Given the description of an element on the screen output the (x, y) to click on. 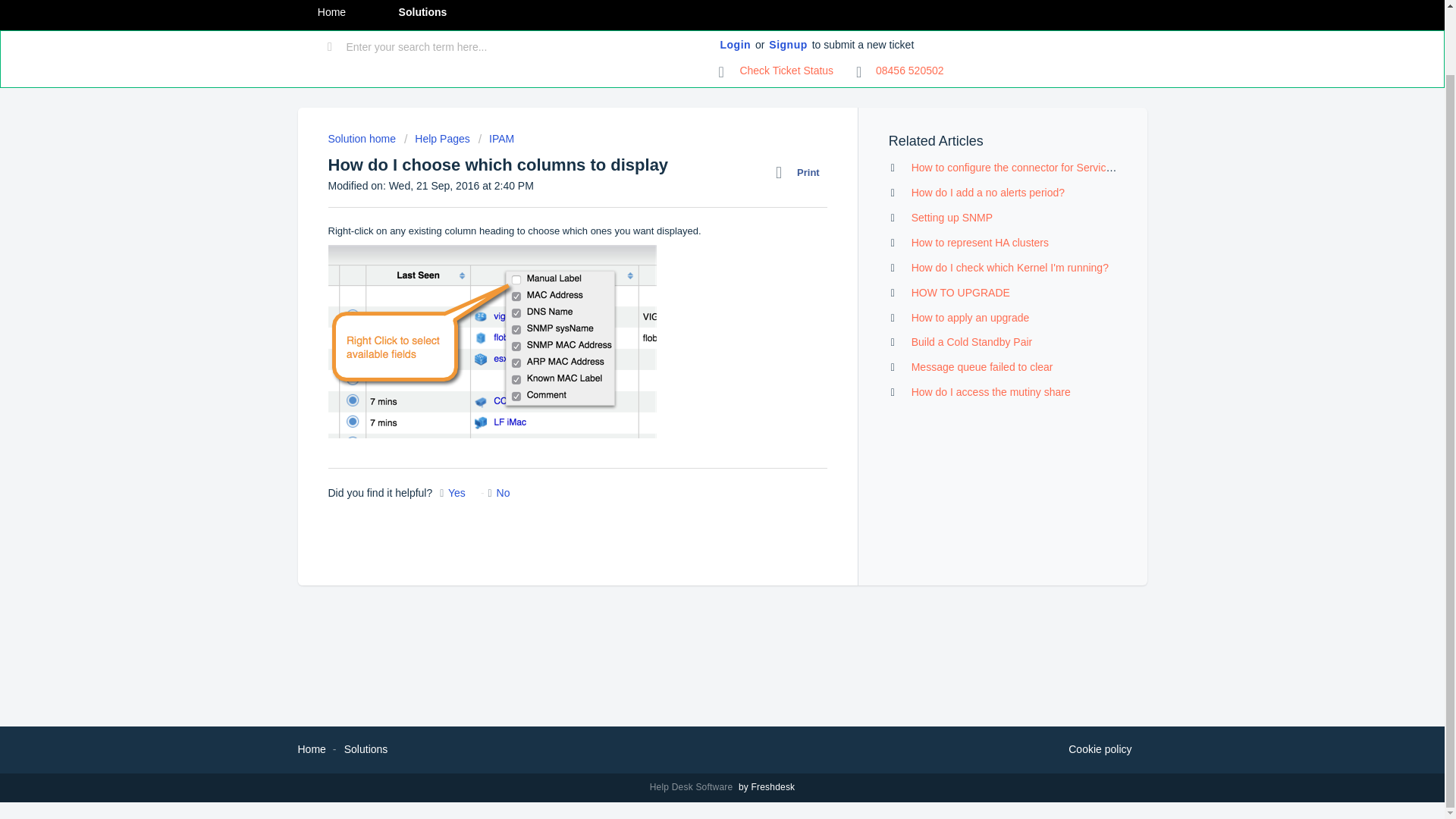
Solutions (422, 15)
Why we love Cookies (1099, 750)
HOW TO UPGRADE (960, 292)
Build a Cold Standby Pair (971, 341)
Check ticket status (776, 71)
Print (801, 172)
Cookie policy (1099, 750)
How do I check which Kernel I'm running? (1009, 267)
Home (331, 15)
How to represent HA clusters (979, 242)
